Given the description of an element on the screen output the (x, y) to click on. 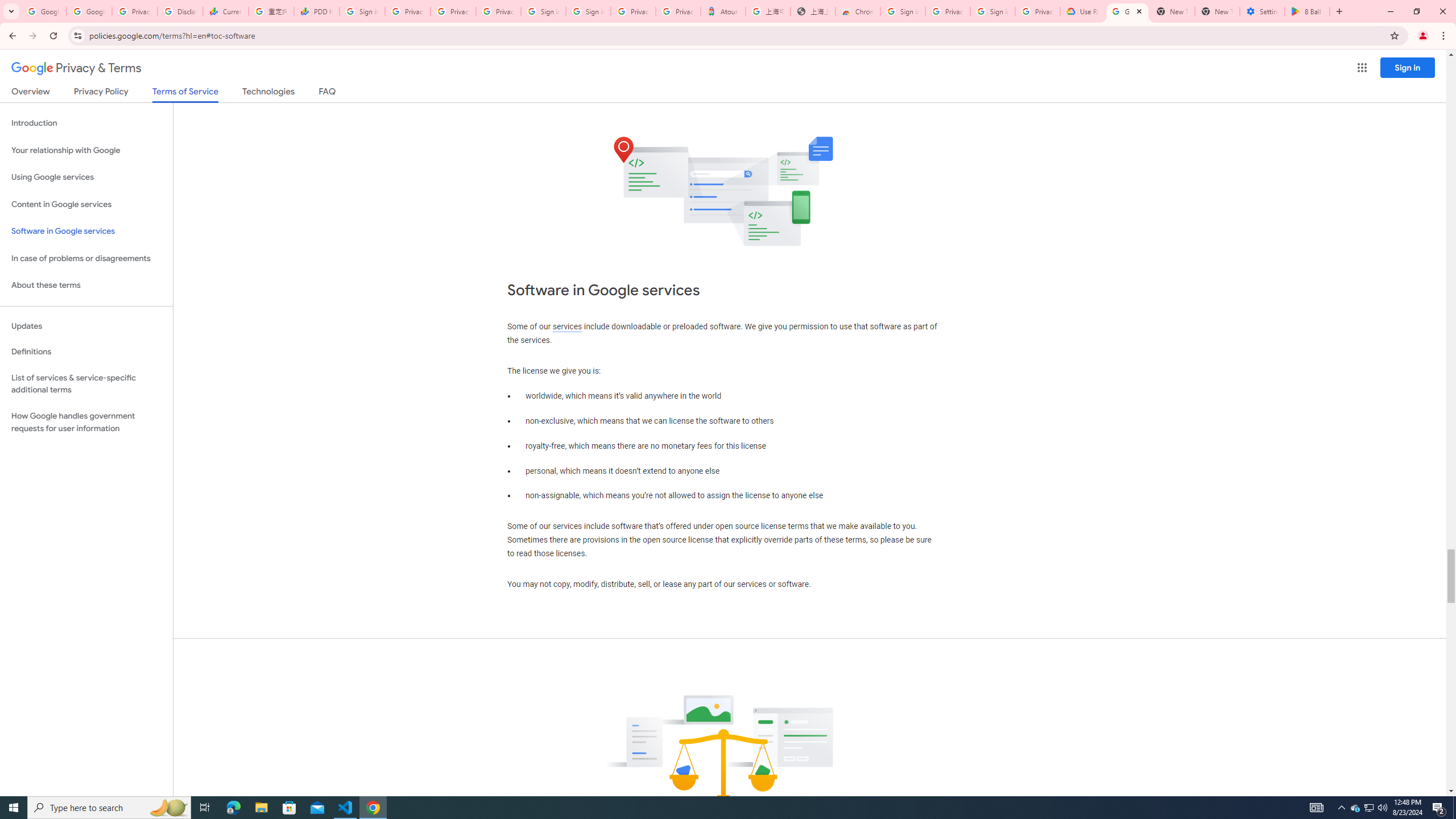
services (566, 326)
Sign in - Google Accounts (587, 11)
Content in Google services (86, 204)
Sign in - Google Accounts (542, 11)
About these terms (86, 284)
Using Google services (86, 176)
